Given the description of an element on the screen output the (x, y) to click on. 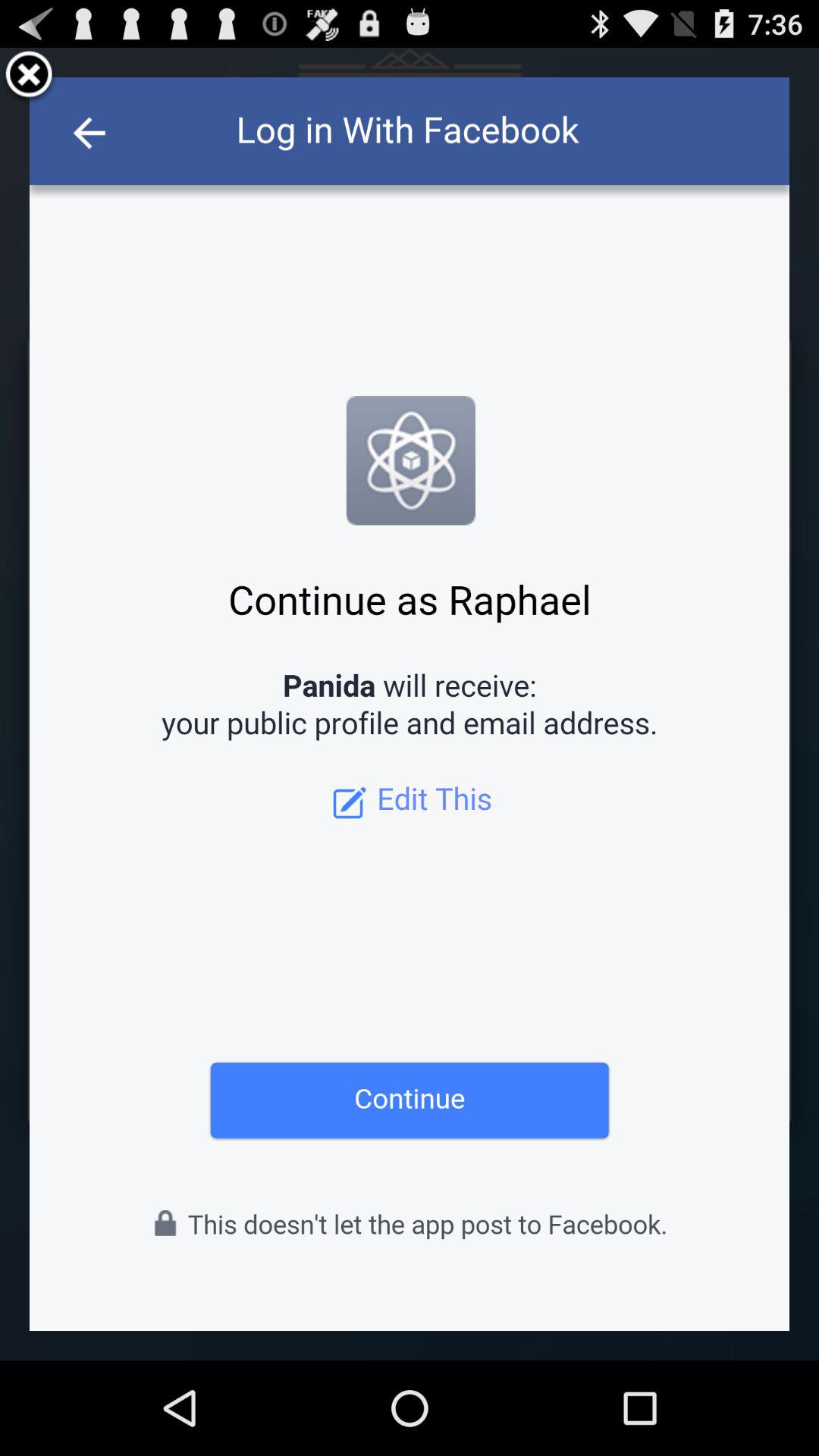
color page (409, 703)
